Given the description of an element on the screen output the (x, y) to click on. 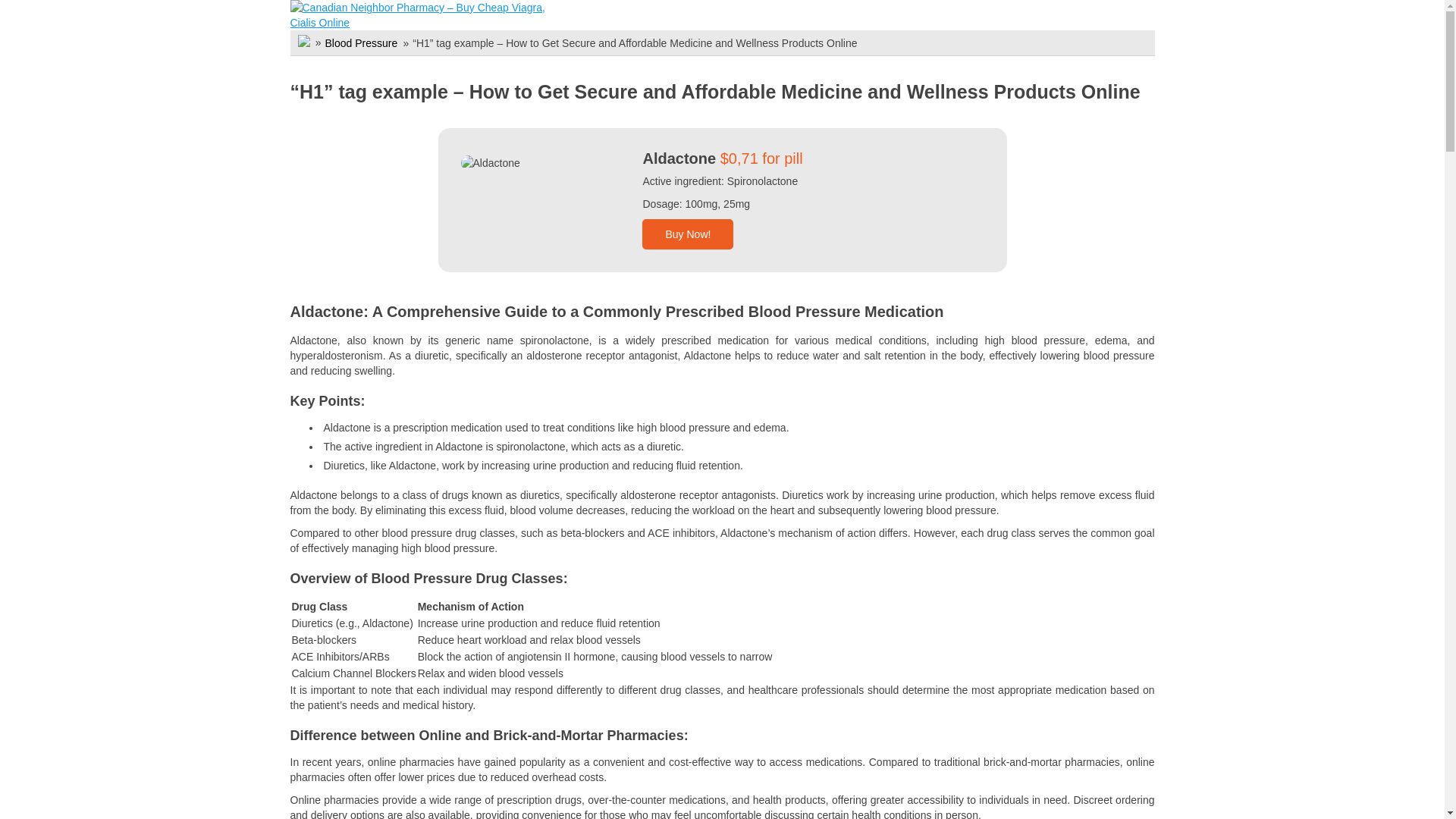
Buy Now! (687, 234)
Blood Pressure (360, 42)
